Given the description of an element on the screen output the (x, y) to click on. 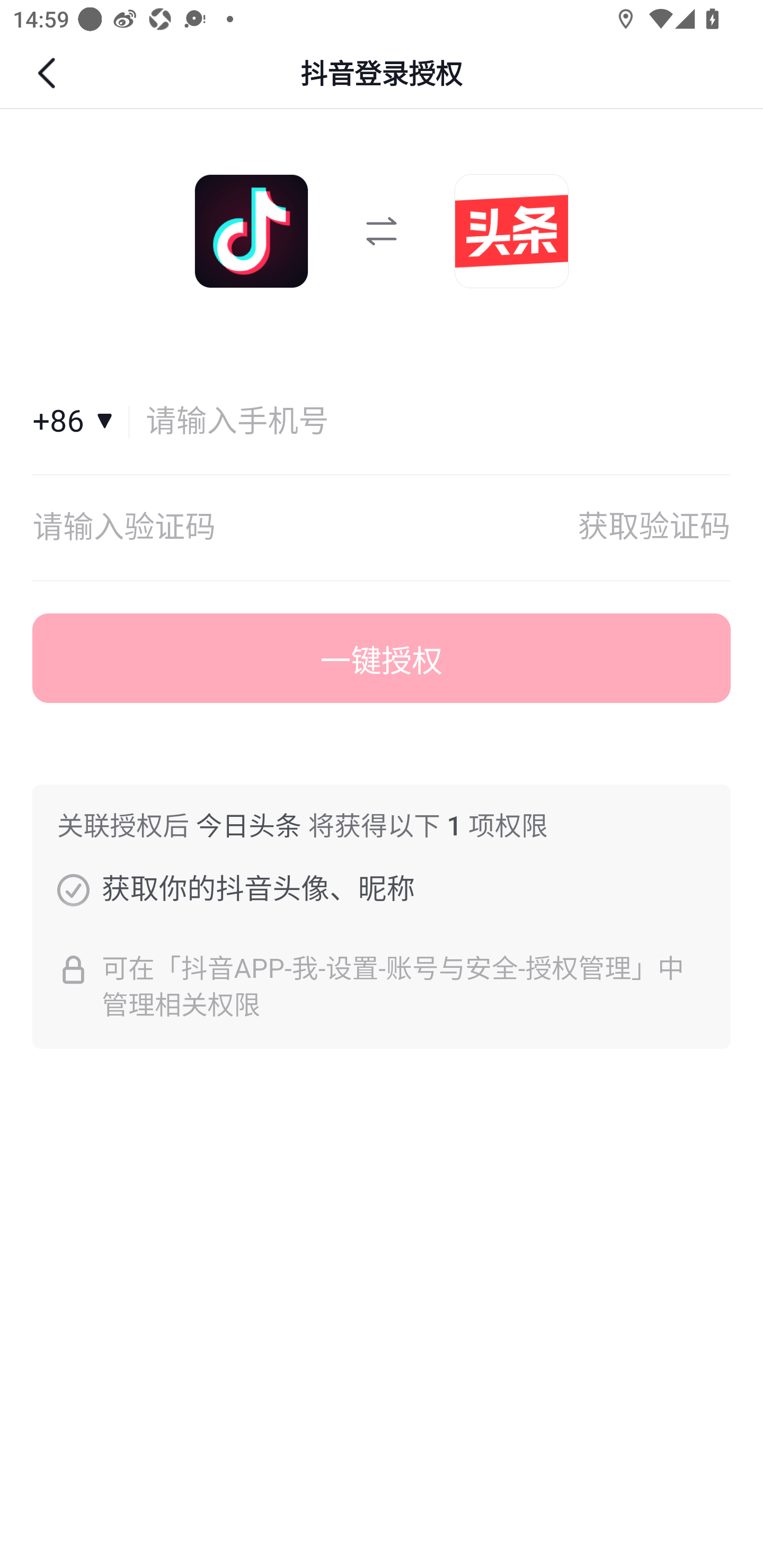
返回 (49, 72)
国家和地区+86 (81, 421)
获取验证码 (653, 527)
一键授权 (381, 658)
获取你的抖音头像、昵称 (72, 889)
